Given the description of an element on the screen output the (x, y) to click on. 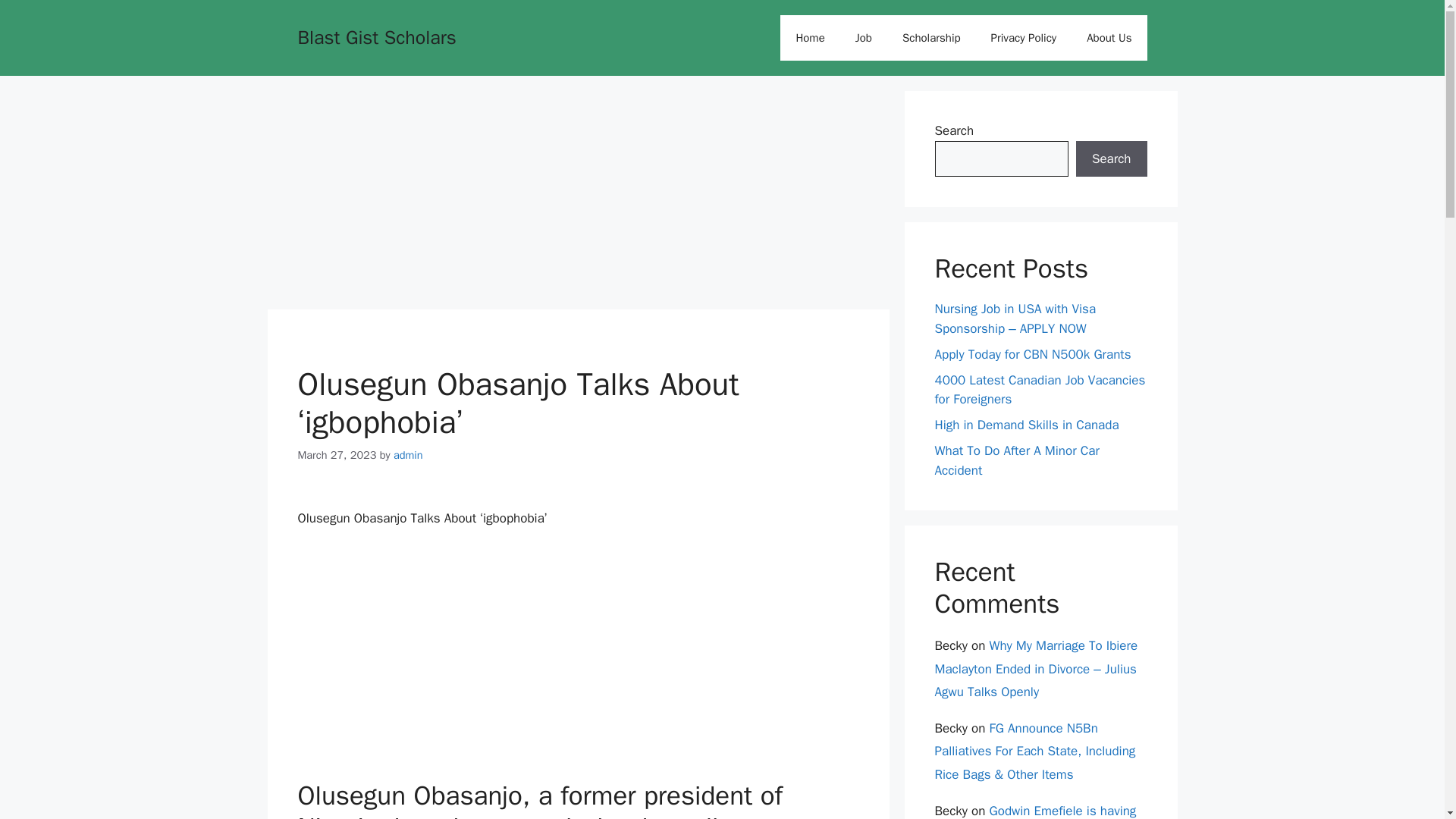
What To Do After A Minor Car Accident (1016, 460)
Blast Gist Scholars (376, 37)
Scholarship (930, 37)
High in Demand Skills in Canada (1026, 424)
Search (1111, 158)
Advertisement (577, 196)
admin (408, 454)
Privacy Policy (1023, 37)
View all posts by admin (408, 454)
Apply Today for CBN N500k Grants (1032, 353)
